Given the description of an element on the screen output the (x, y) to click on. 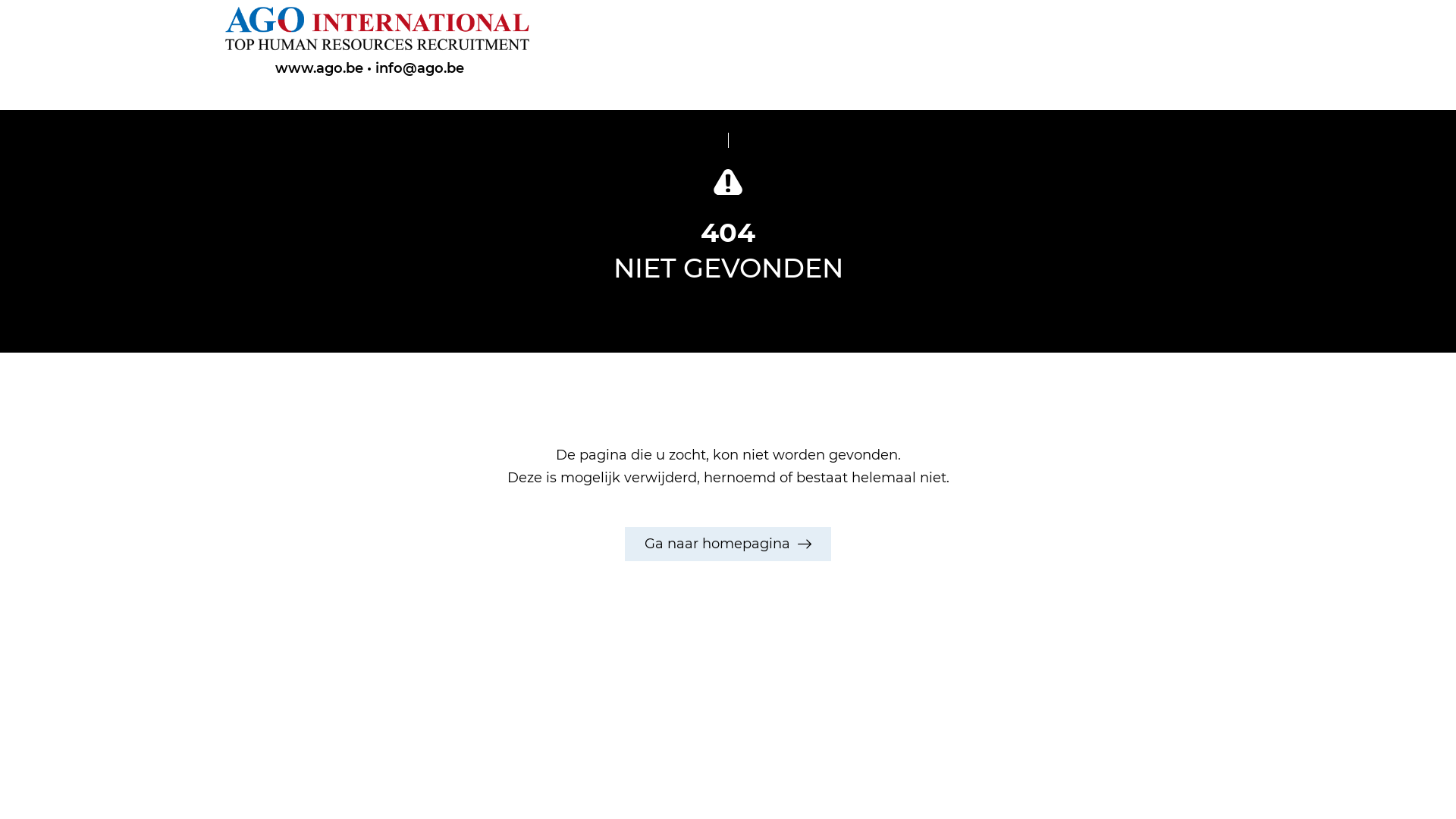
Ga naar homepagina Element type: text (727, 544)
www.ago.be Element type: text (319, 67)
info@ago.be Element type: text (419, 67)
